Given the description of an element on the screen output the (x, y) to click on. 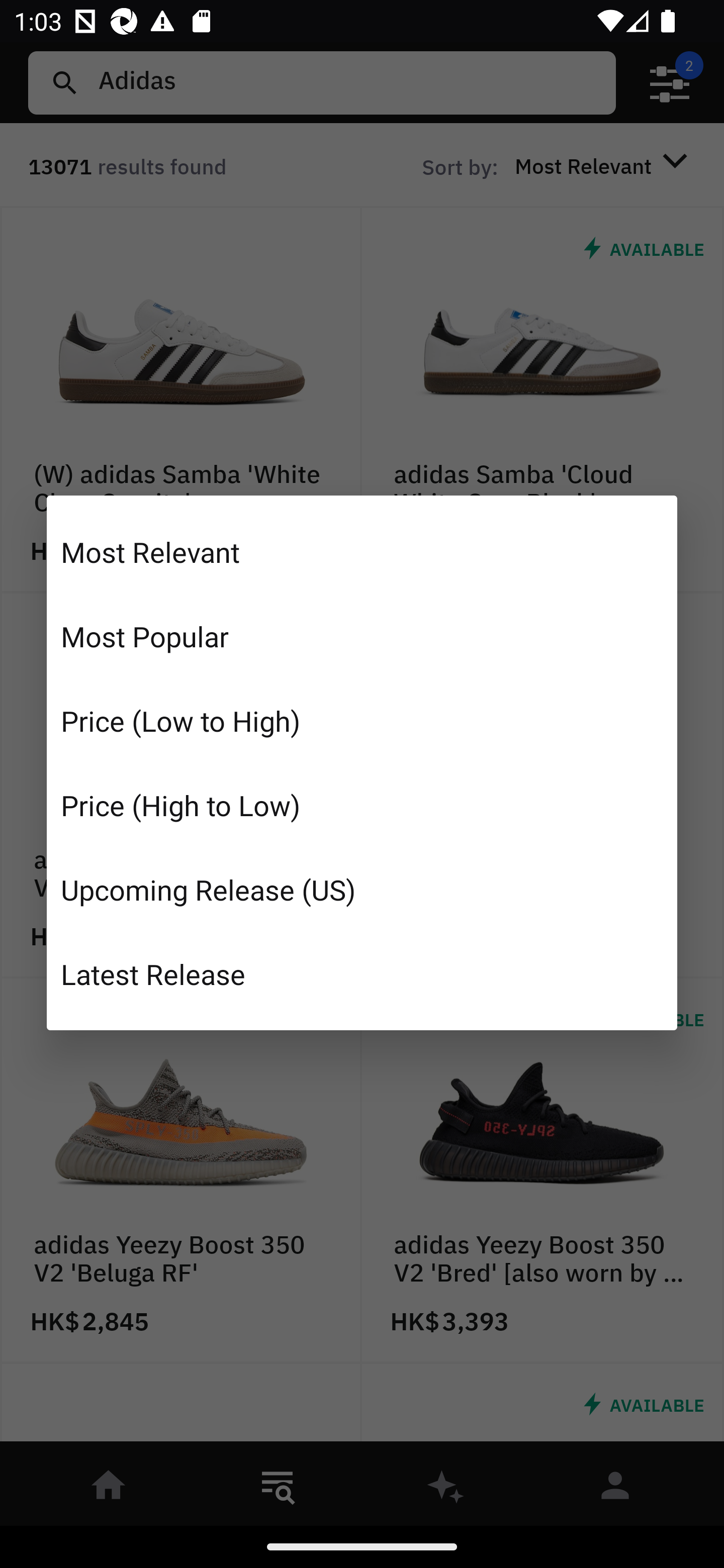
Most Relevant (361, 551)
Most Popular (361, 636)
Price (Low to High) (361, 720)
Price (High to Low) (361, 804)
Upcoming Release (US) (361, 888)
Latest Release (361, 973)
